Given the description of an element on the screen output the (x, y) to click on. 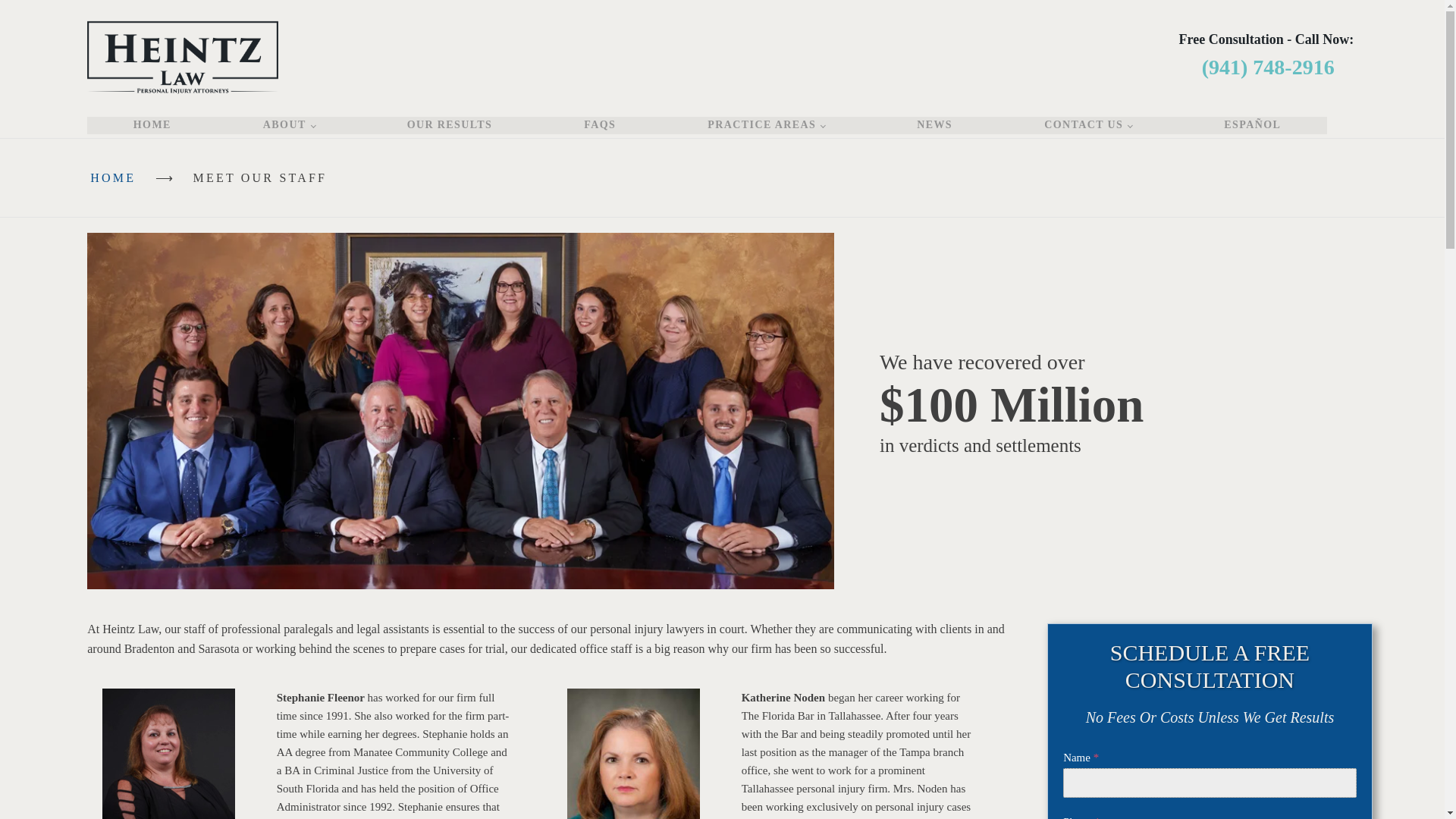
OUR RESULTS (450, 125)
HOME (152, 125)
NEWS (934, 125)
PRACTICE AREAS (766, 125)
FAQS (599, 125)
Breadcrumb link to Home (112, 177)
ABOUT (289, 125)
